Given the description of an element on the screen output the (x, y) to click on. 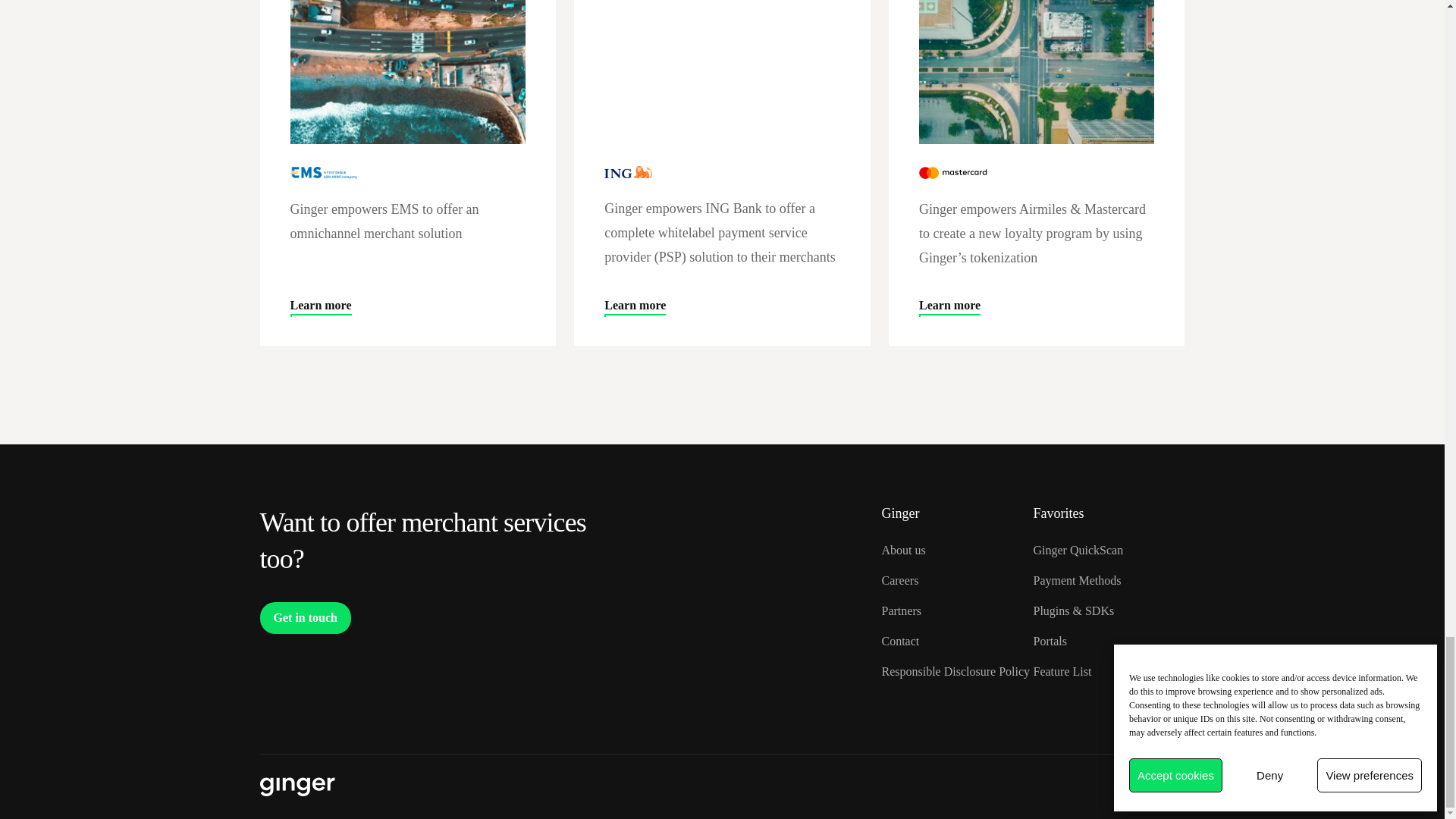
Get in touch (304, 617)
